Given the description of an element on the screen output the (x, y) to click on. 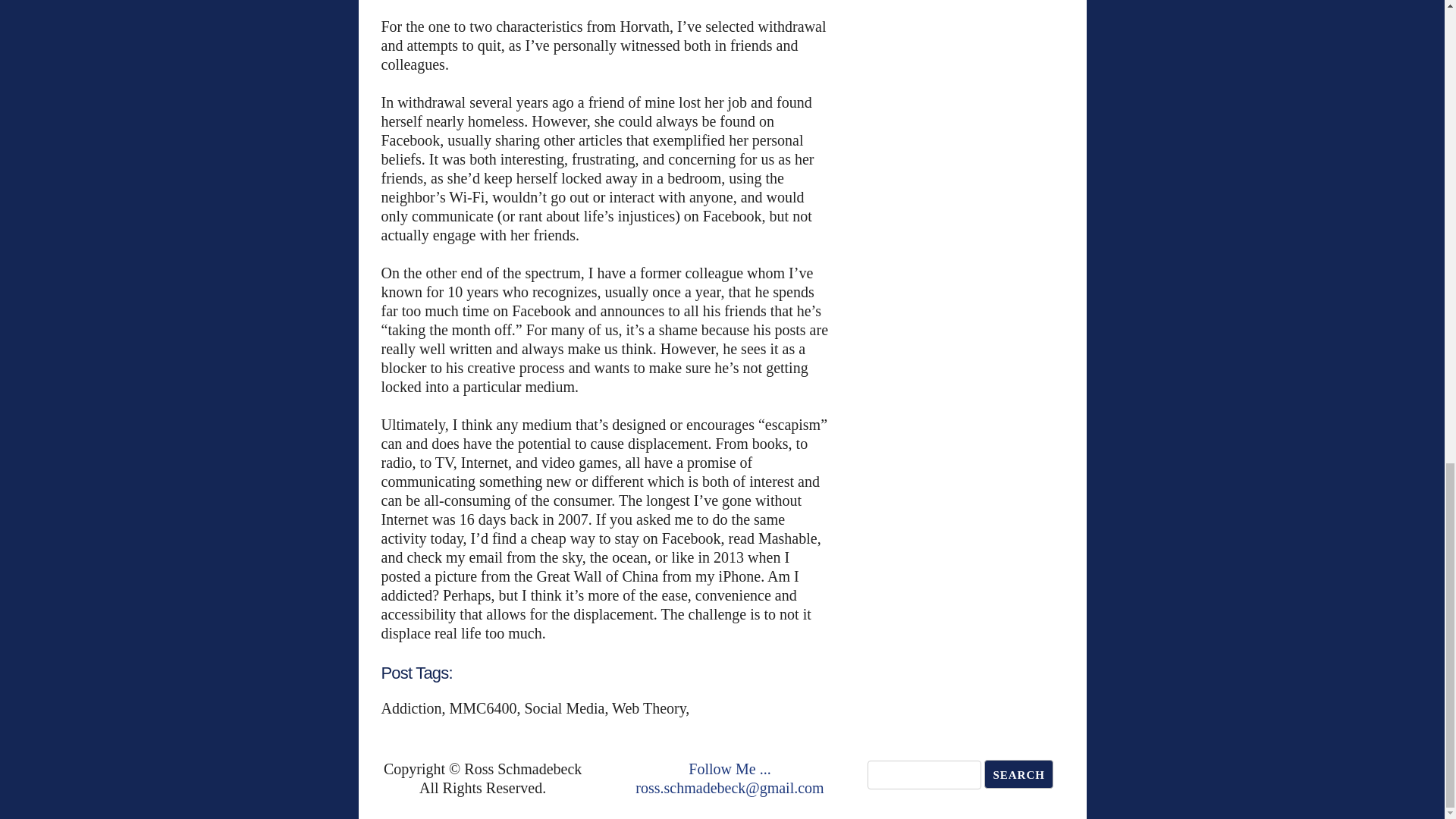
Follow Me ... (729, 768)
Search (1018, 774)
Search (1018, 774)
